Given the description of an element on the screen output the (x, y) to click on. 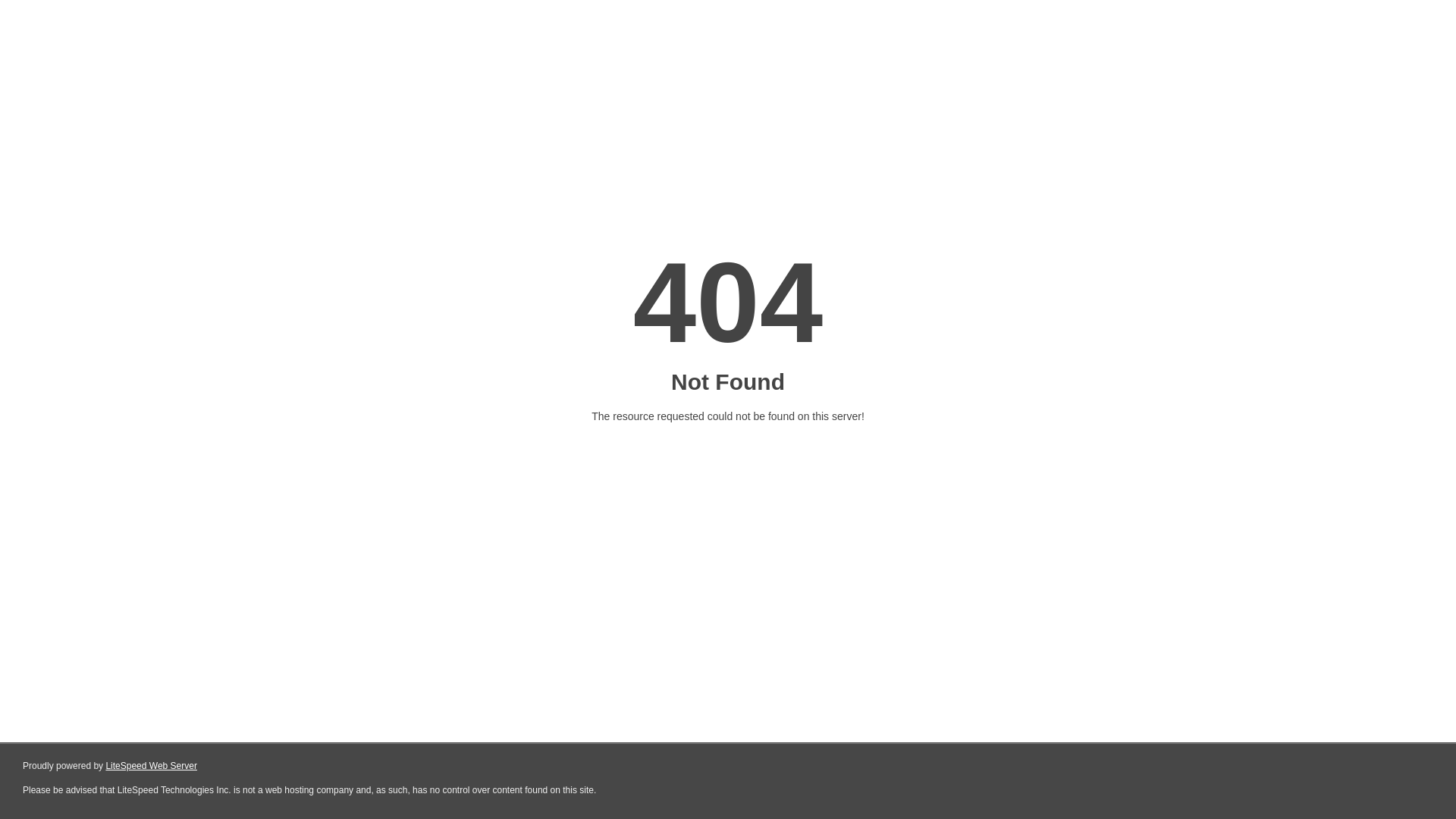
LiteSpeed Web Server Element type: text (151, 765)
